Given the description of an element on the screen output the (x, y) to click on. 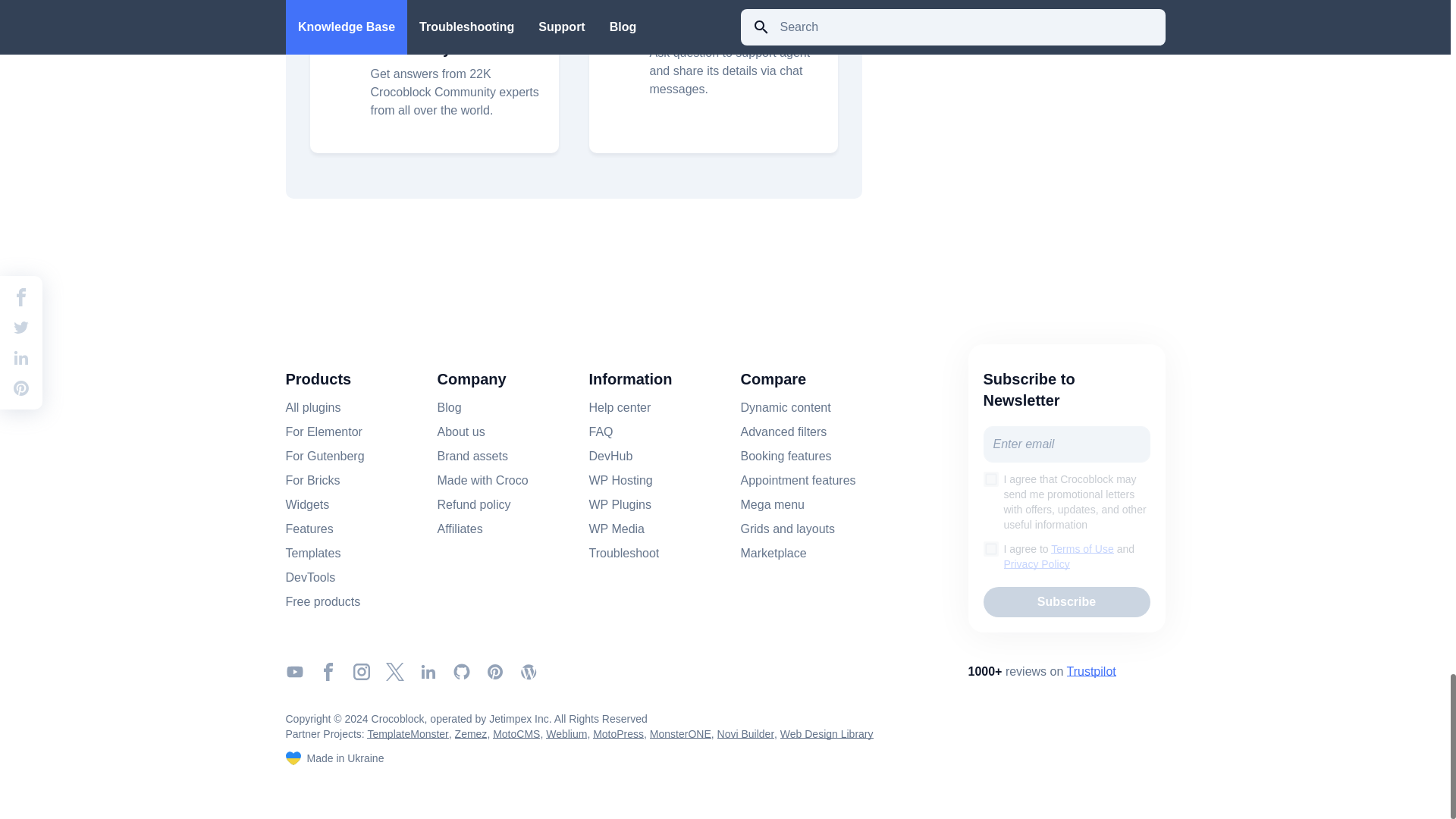
For Elementor (323, 432)
For Gutenberg (324, 456)
WP Hosting (620, 480)
Features (309, 529)
For Bricks (312, 480)
WP Media (616, 529)
Dynamic content (784, 407)
Free products (322, 601)
DevTools (309, 577)
Templates (312, 553)
